Given the description of an element on the screen output the (x, y) to click on. 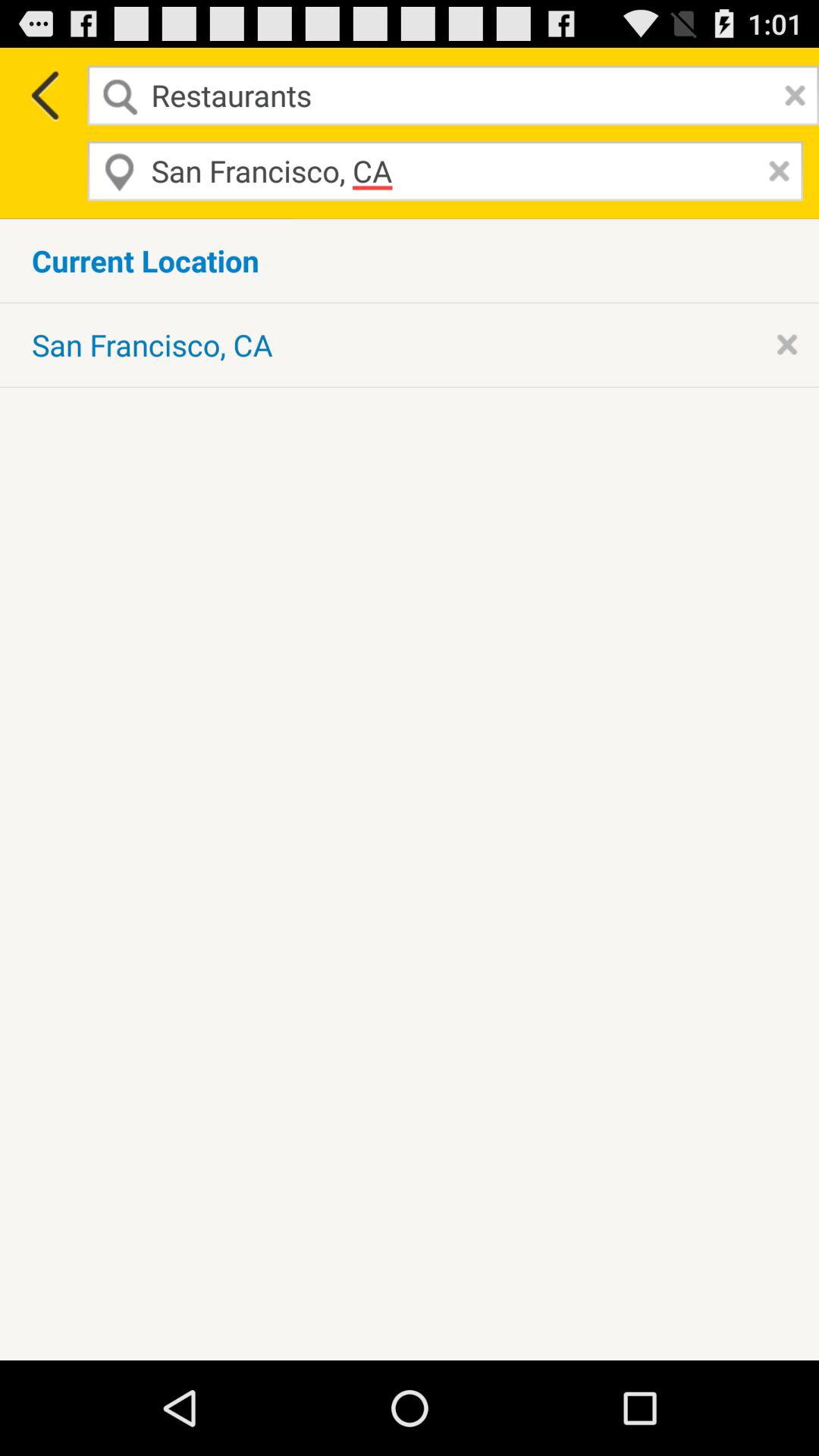
delete current location (787, 344)
